Given the description of an element on the screen output the (x, y) to click on. 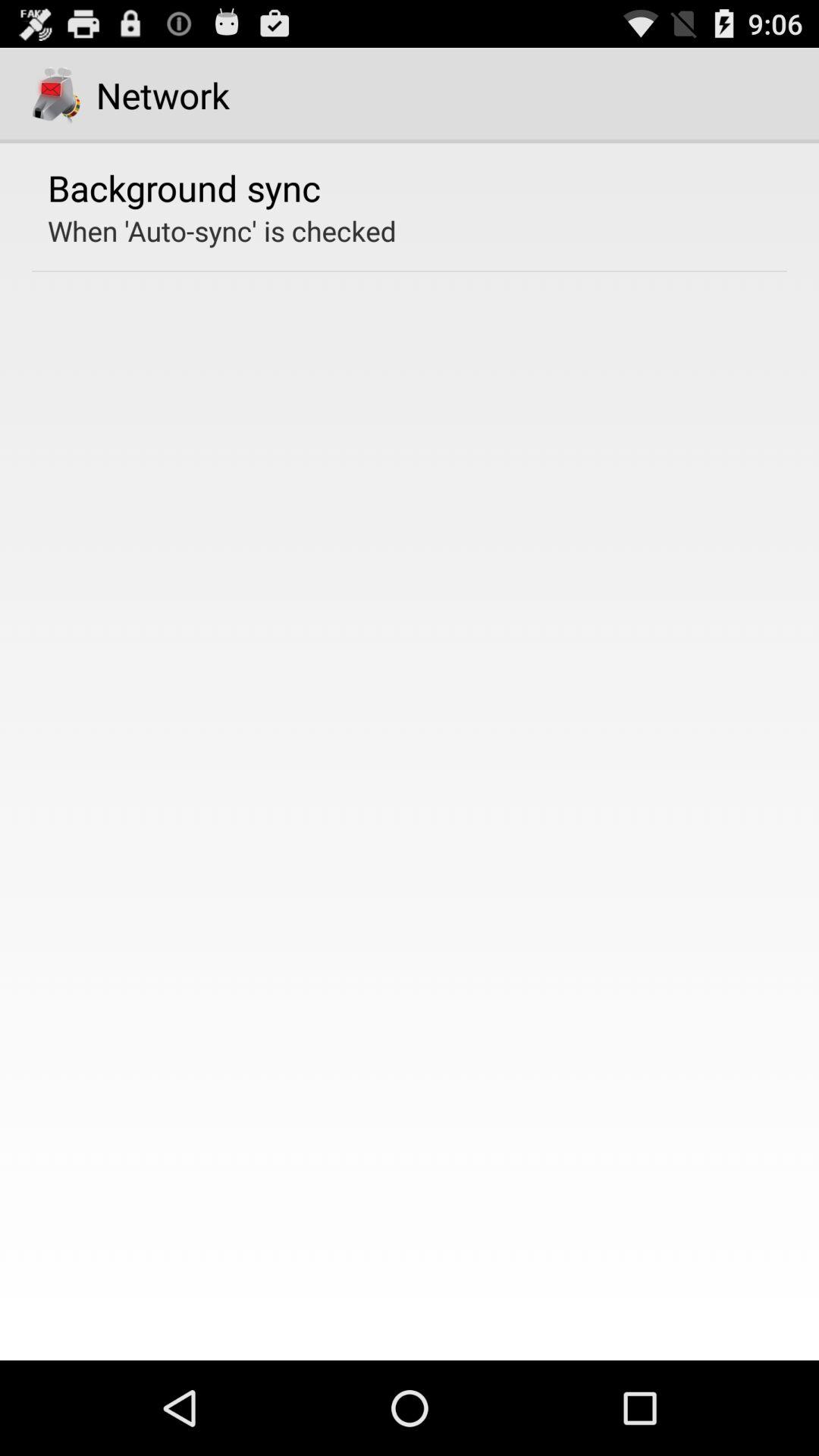
select app above the when auto sync icon (183, 187)
